Given the description of an element on the screen output the (x, y) to click on. 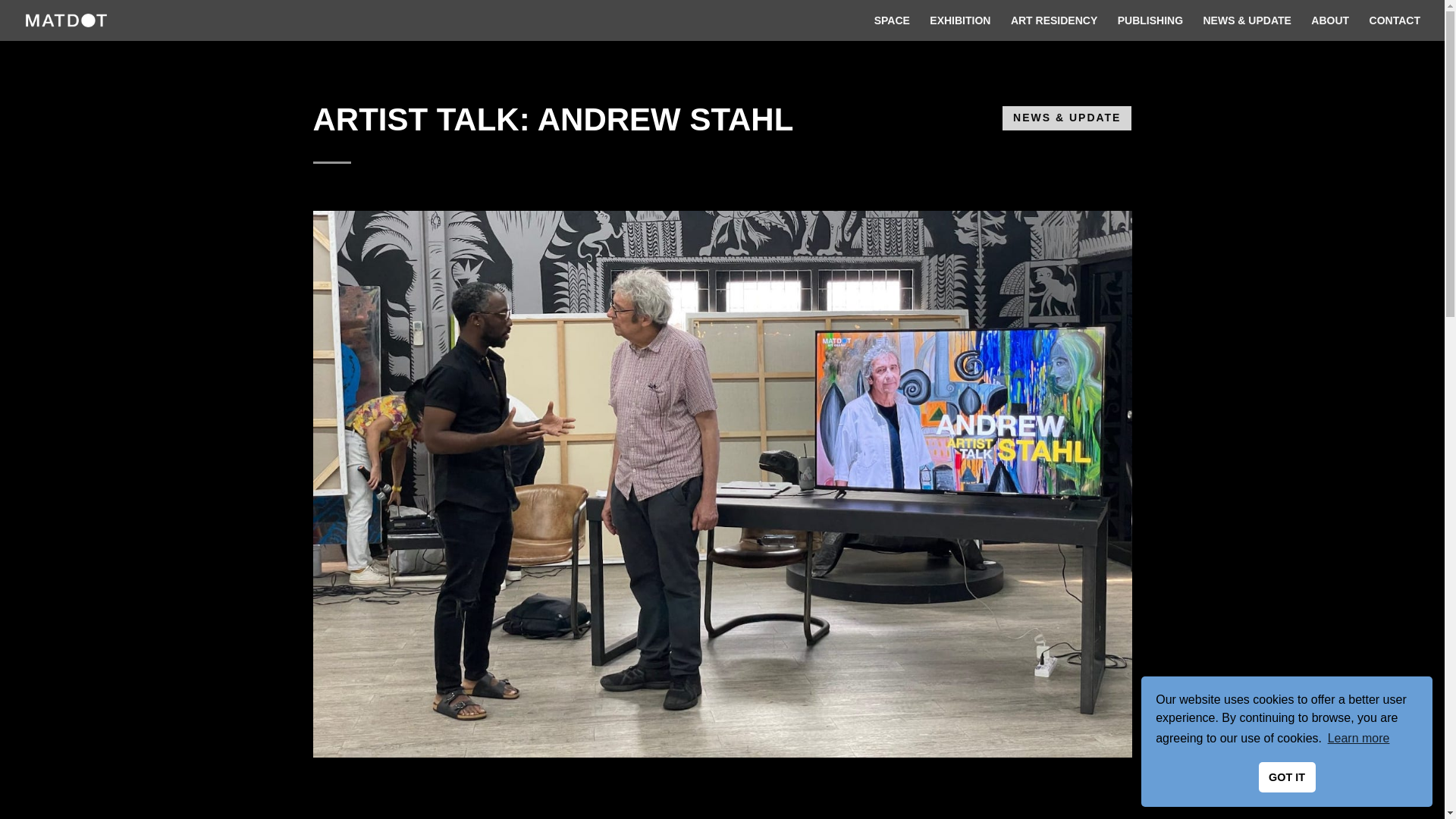
ART RESIDENCY (1053, 27)
GOT IT (1287, 777)
PUBLISHING (1150, 27)
Learn more (1357, 738)
CONTACT (1395, 27)
SPACE (892, 27)
ABOUT (1330, 27)
EXHIBITION (960, 27)
